Given the description of an element on the screen output the (x, y) to click on. 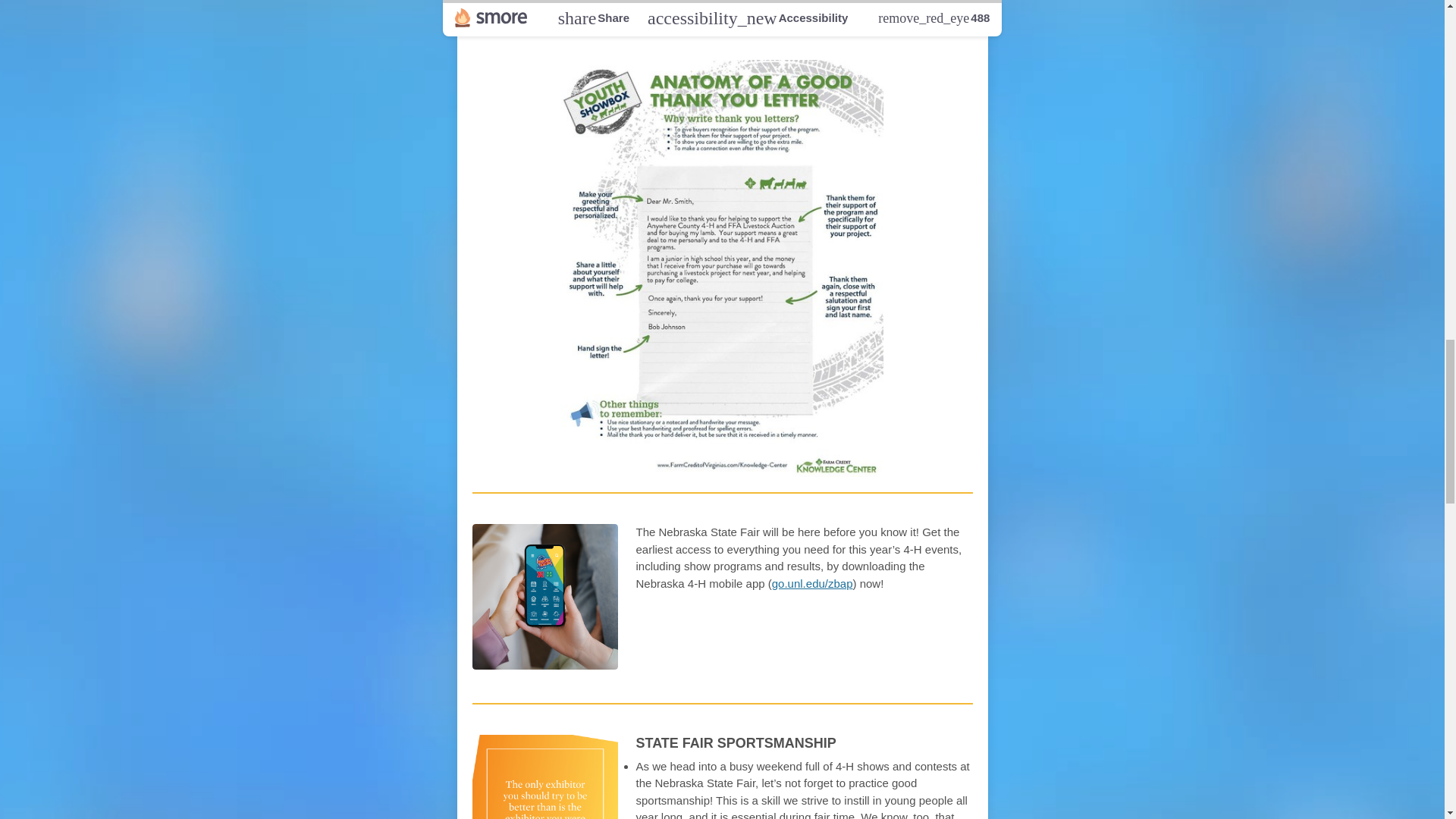
Be (483, 35)
to (547, 35)
sure (517, 35)
your (609, 35)
Thank (657, 35)
cards (742, 35)
get (573, 35)
You (700, 35)
sent! (789, 35)
